Given the description of an element on the screen output the (x, y) to click on. 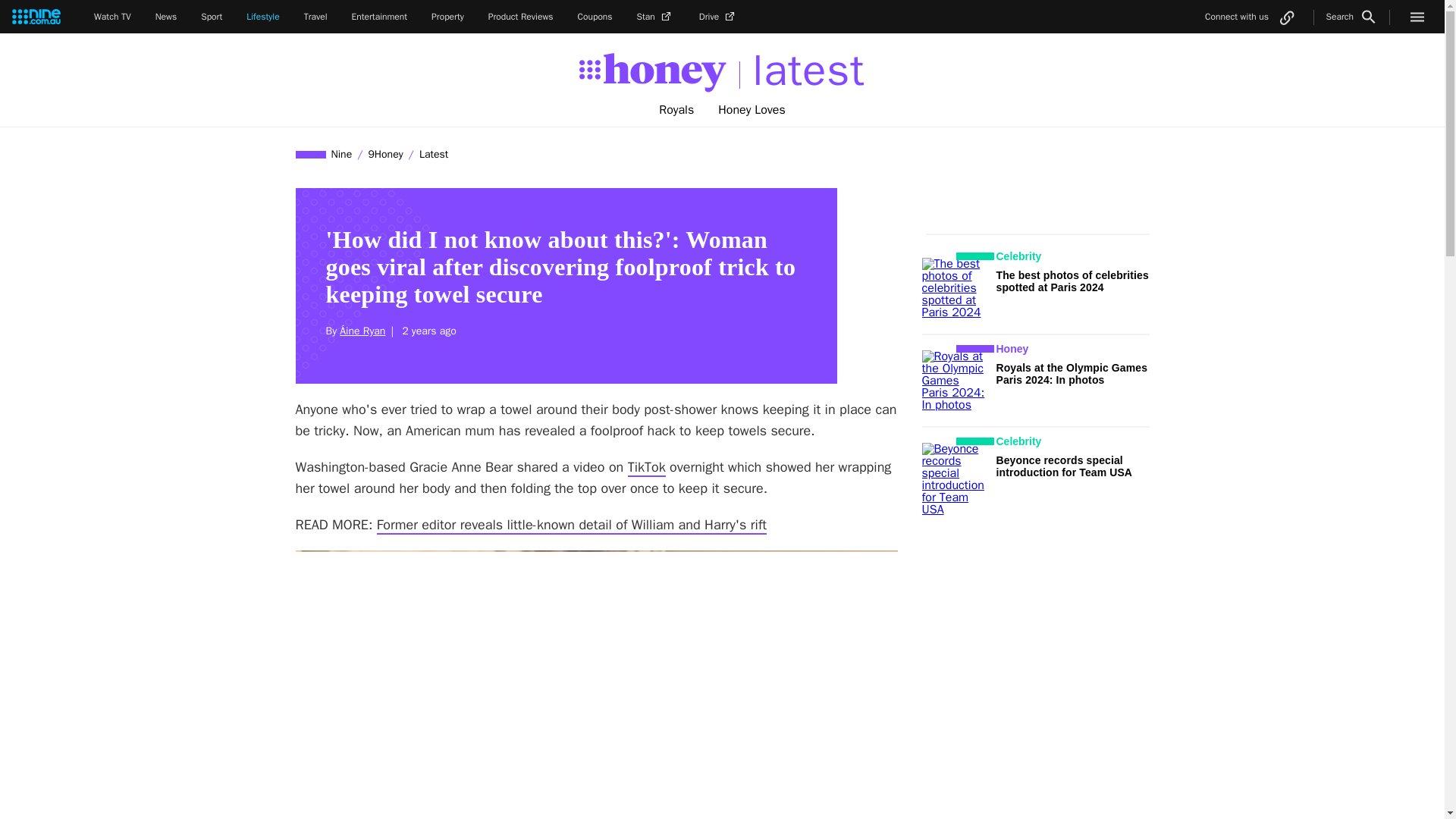
Royals (676, 109)
Stan (656, 16)
TikTok (646, 467)
Sport (211, 16)
The best photos of celebrities spotted at Paris 2024 (1071, 281)
Product Reviews (520, 16)
Honey Loves (751, 109)
Lifestyle (262, 16)
9Honey (384, 154)
Latest (432, 154)
Property (447, 16)
2022-04-12 06:49 (426, 330)
News (166, 16)
Nine (342, 154)
Travel (315, 16)
